Given the description of an element on the screen output the (x, y) to click on. 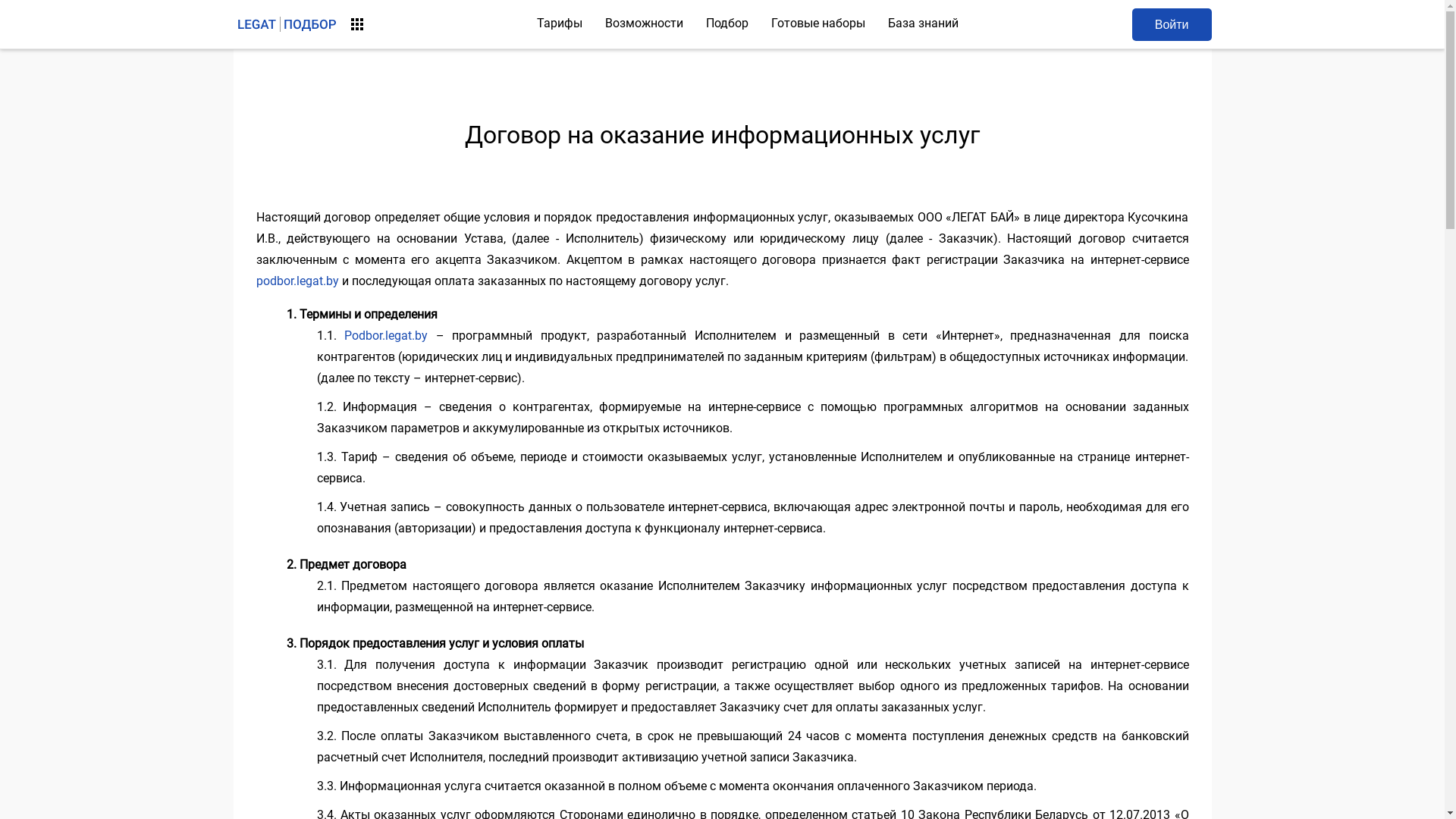
Logo Element type: hover (286, 24)
podbor.legat.by Element type: text (297, 280)
Podbor.legat.by Element type: text (385, 335)
